Given the description of an element on the screen output the (x, y) to click on. 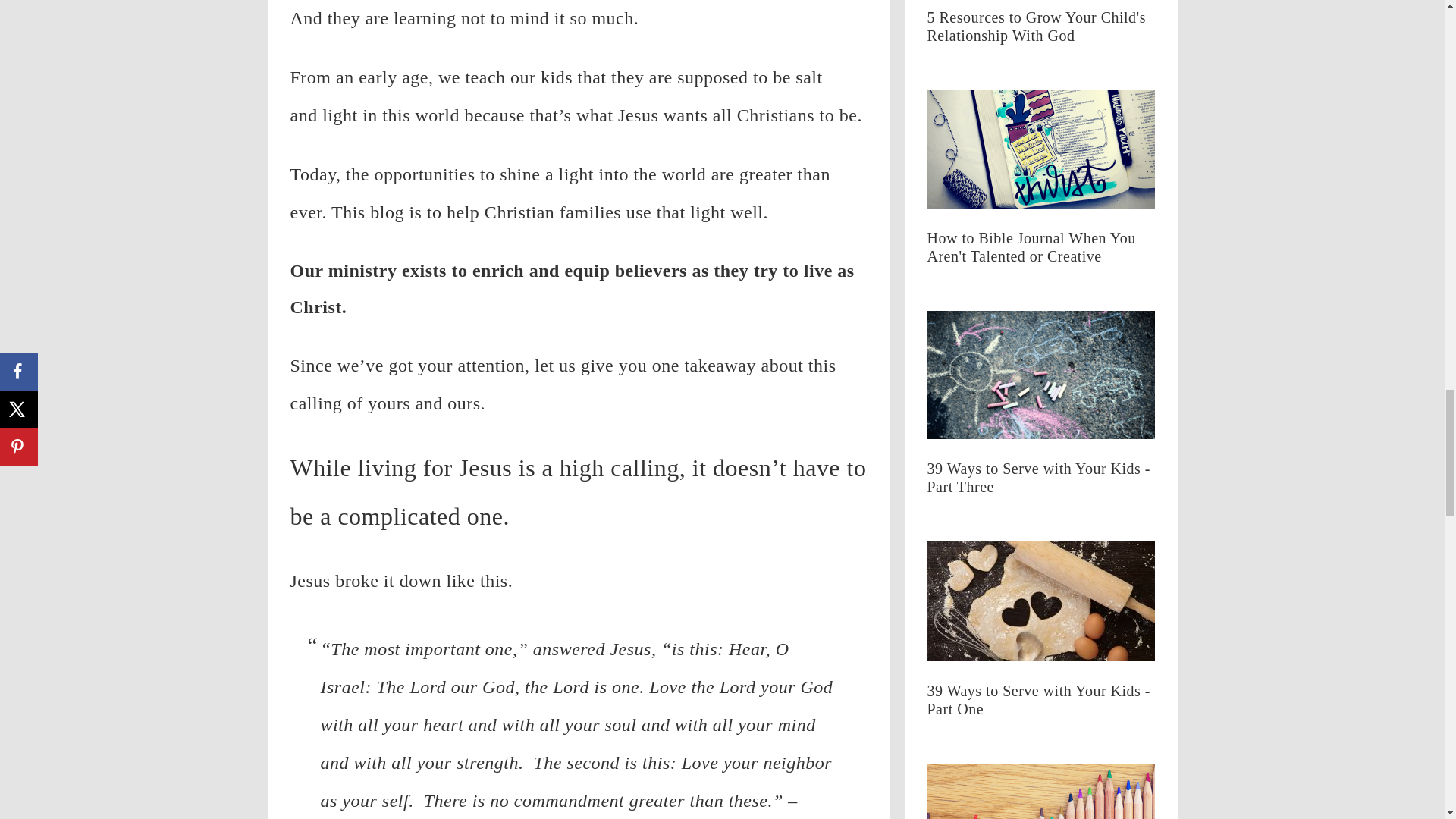
Four Ways to Help Kids Sit Through Church (1040, 791)
39 Ways to Serve with Your Kids - Part Three (1040, 487)
How to Bible Journal When You Aren't Talented or Creative (1040, 153)
5 Resources to Grow Your Child's Relationship With God (1040, 35)
39 Ways to Serve with Your Kids - Part Three (1040, 378)
39 Ways to Serve with Your Kids - Part One (1040, 709)
How to Bible Journal When You Aren't Talented or Creative (1040, 256)
39 Ways to Serve with Your Kids - Part One (1040, 605)
